Given the description of an element on the screen output the (x, y) to click on. 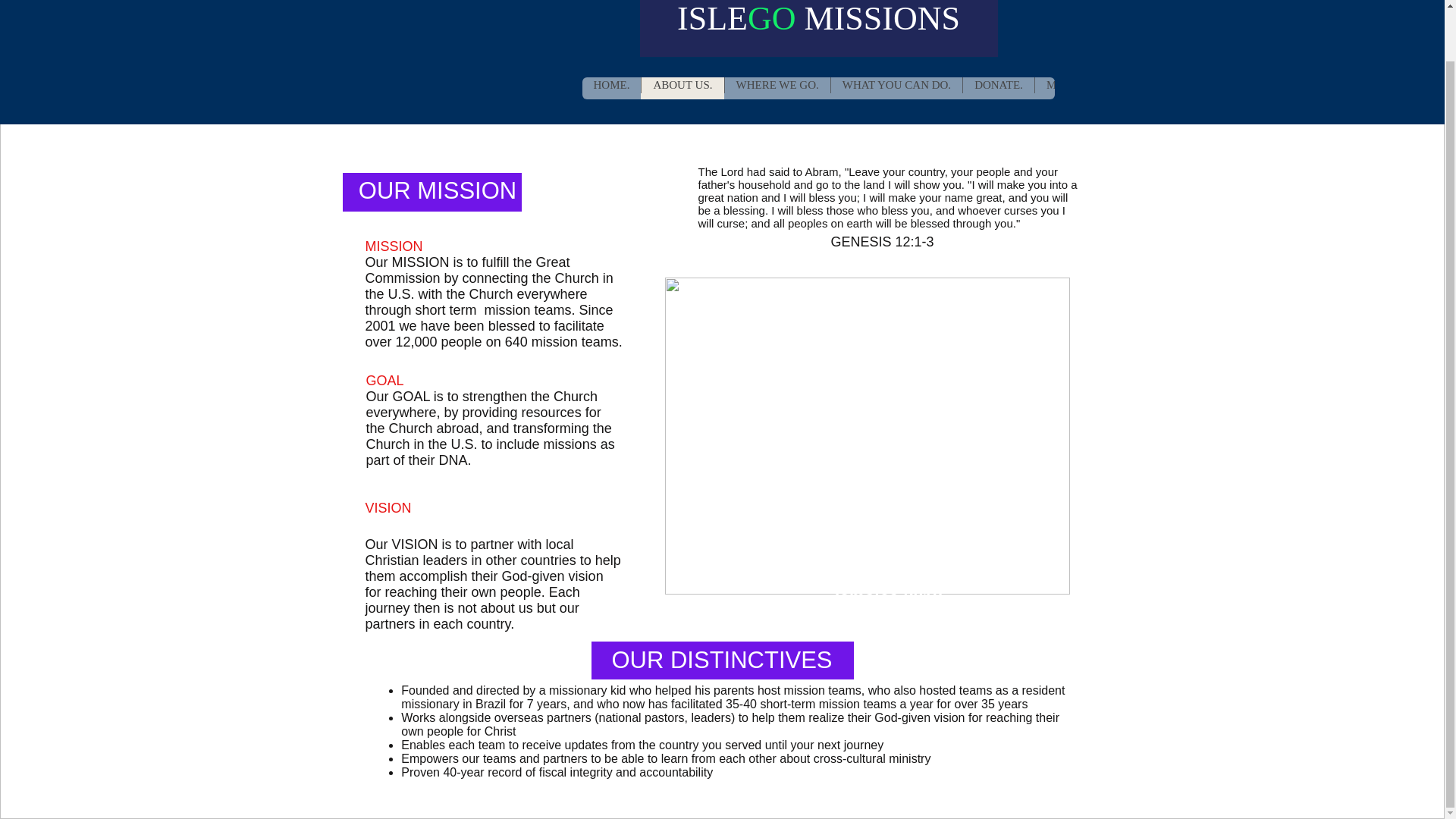
ABOUT US. (681, 87)
islego.png (504, 54)
WHERE WE GO. (776, 87)
HOME. (612, 87)
DONATE. (997, 87)
WHAT YOU CAN DO. (895, 87)
